Given the description of an element on the screen output the (x, y) to click on. 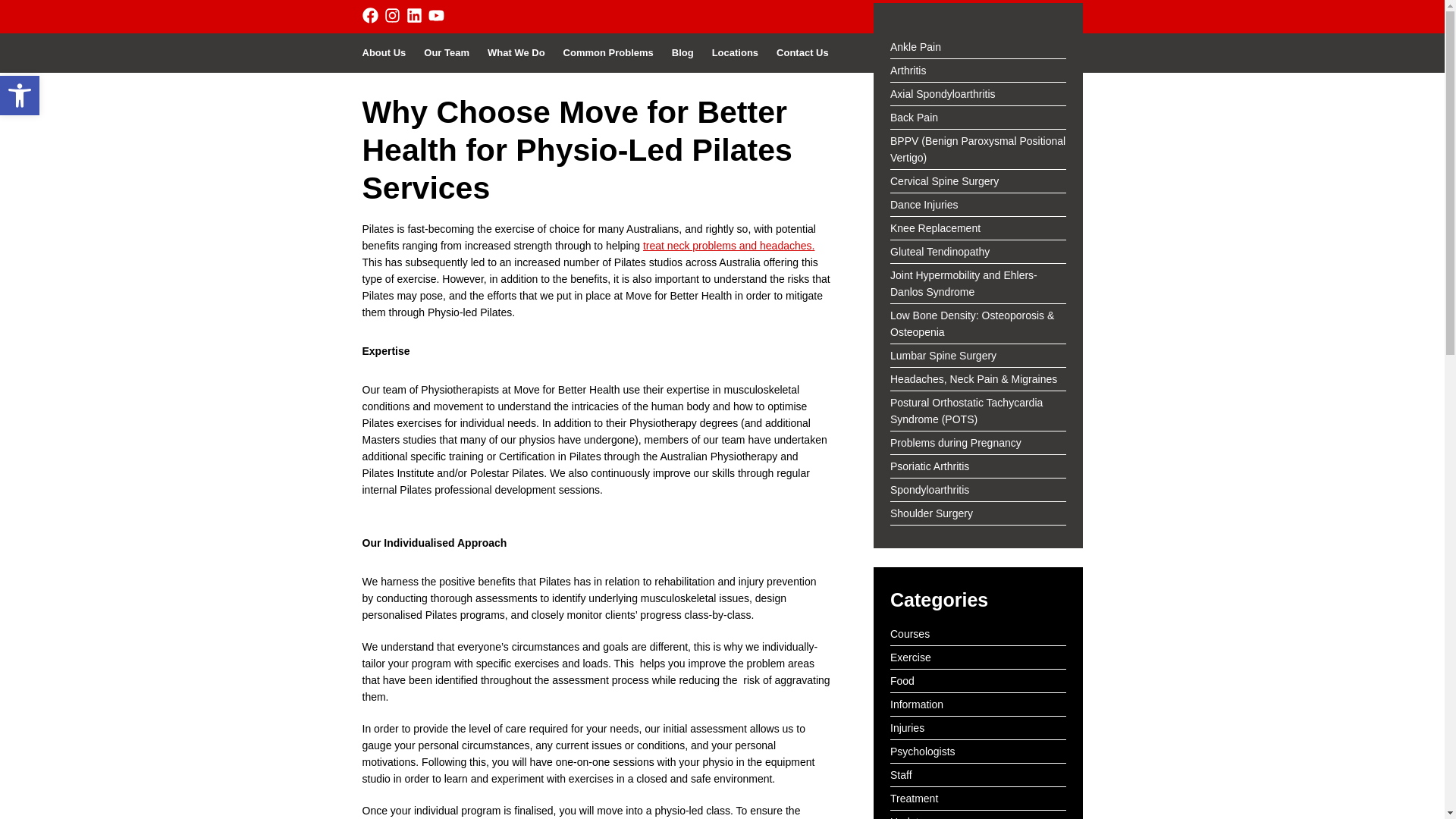
Accessibility Tools (19, 95)
Our Team (446, 52)
About Us (388, 52)
Accessibility Tools (19, 95)
Call Now (914, 18)
Click Here To Book (1024, 18)
